Given the description of an element on the screen output the (x, y) to click on. 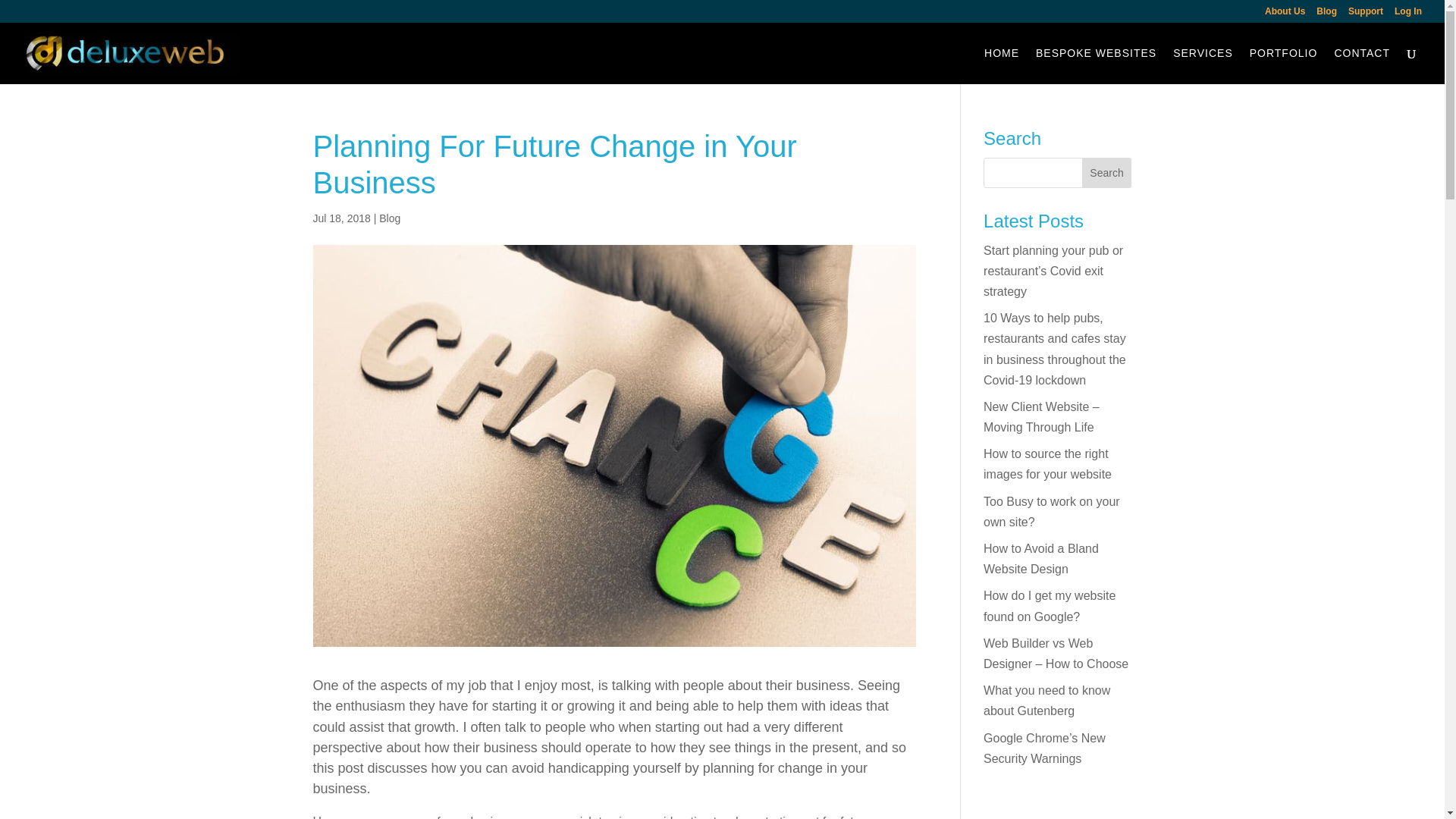
Support (1365, 14)
Search (1106, 173)
How to Avoid a Bland Website Design (1041, 558)
CONTACT (1361, 65)
BESPOKE WEBSITES (1095, 65)
Too Busy to work on your own site? (1051, 511)
How to source the right images for your website (1048, 463)
PORTFOLIO (1283, 65)
HOME (1001, 65)
